Given the description of an element on the screen output the (x, y) to click on. 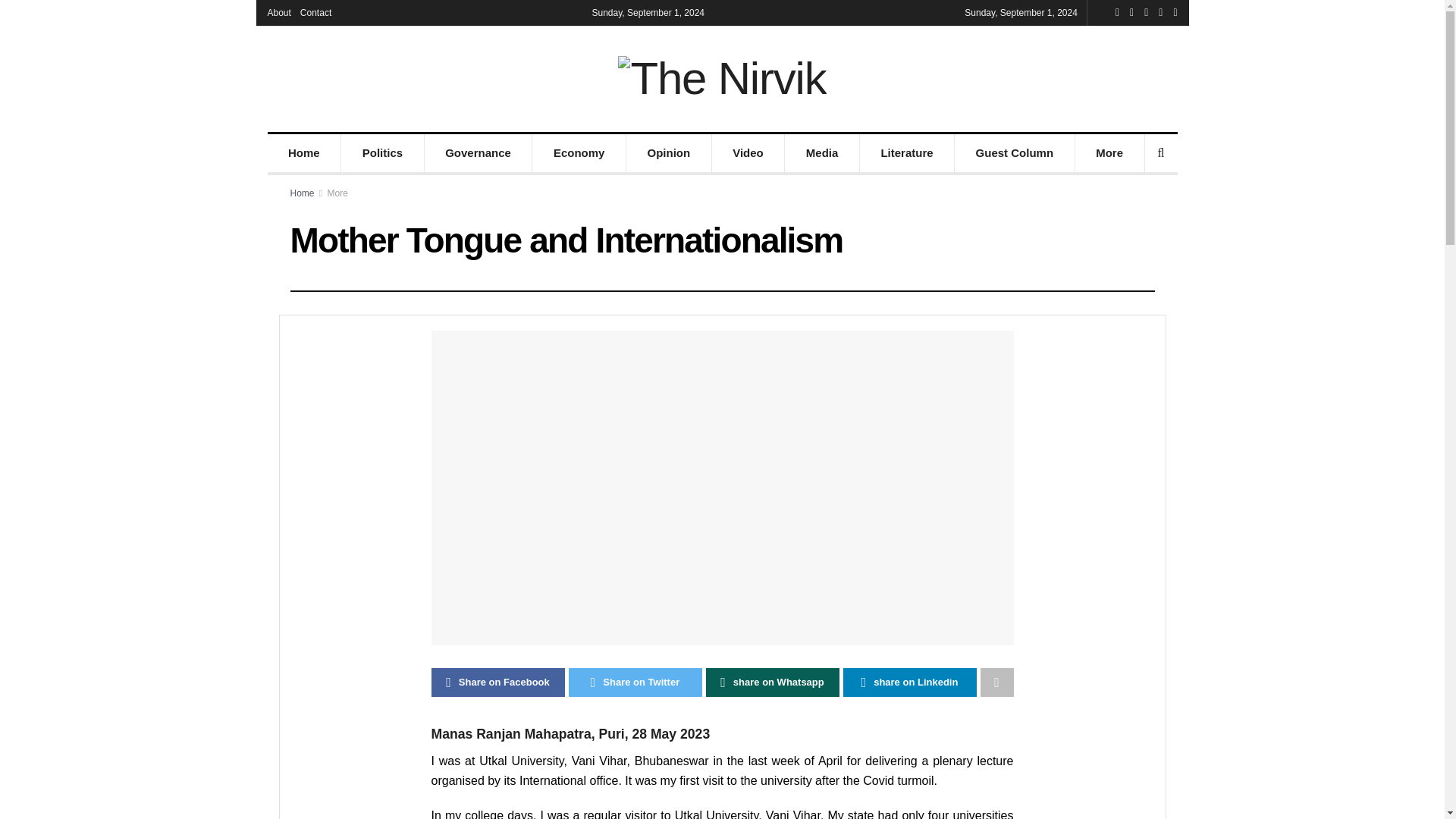
Opinion (668, 152)
Contact (315, 12)
More (1109, 152)
Share on Facebook (497, 682)
More (337, 193)
Politics (381, 152)
Media (821, 152)
Literature (906, 152)
Home (301, 193)
Video (747, 152)
